Given the description of an element on the screen output the (x, y) to click on. 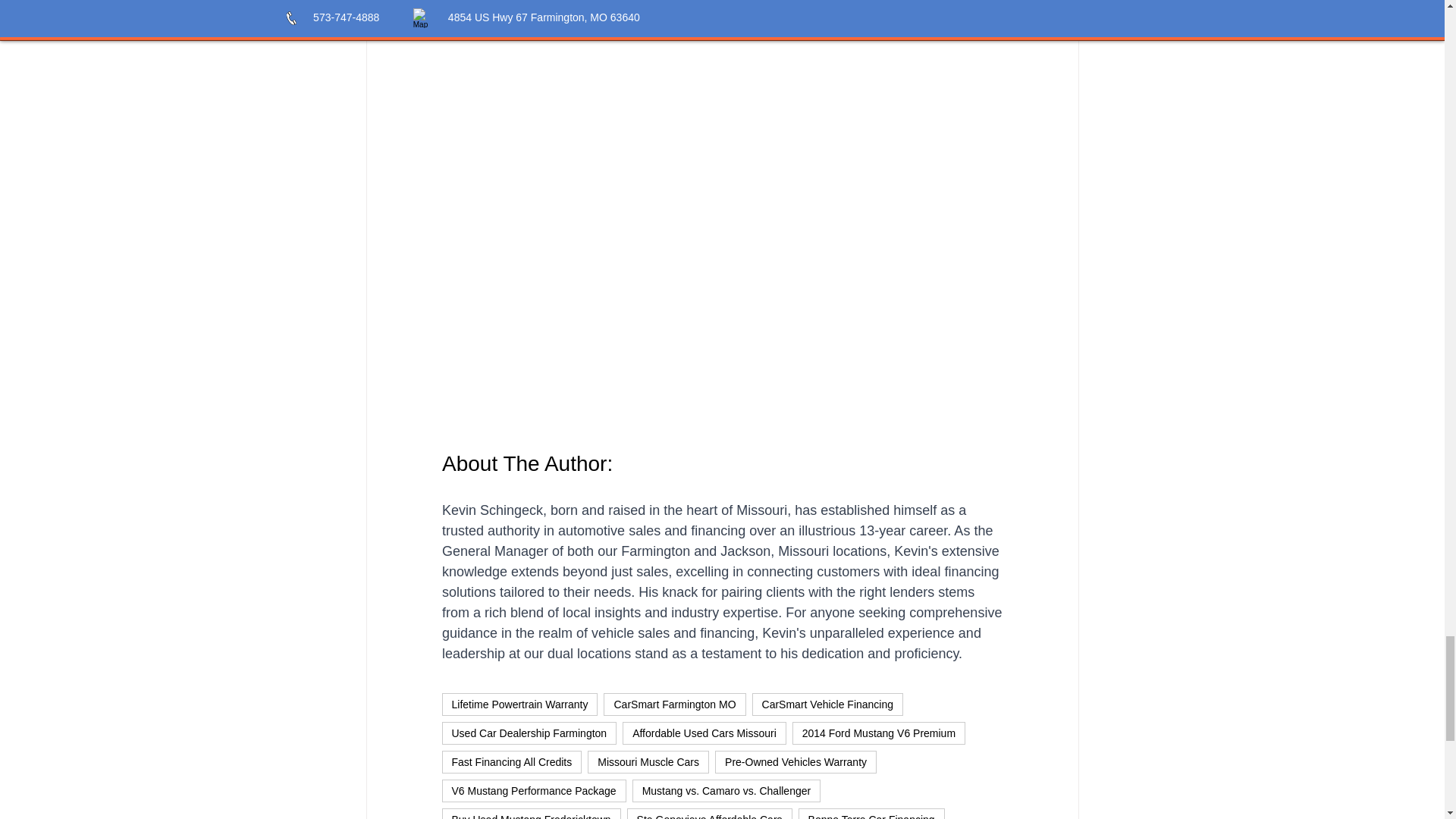
Bonne Terre Car Financing (870, 813)
Used Car Dealership Farmington (528, 732)
Lifetime Powertrain Warranty (518, 703)
Pre-Owned Vehicles Warranty (795, 762)
Missouri Muscle Cars (648, 762)
V6 Mustang Performance Package (533, 790)
Affordable Used Cars Missouri (704, 732)
Buy Used Mustang Fredericktown (530, 813)
CarSmart Farmington MO (674, 703)
Mustang vs. Camaro vs. Challenger (726, 790)
2014 Ford Mustang V6 Premium (878, 732)
CarSmart Vehicle Financing (828, 703)
Fast Financing All Credits (510, 762)
Ste Genevieve Affordable Cars (709, 813)
